Given the description of an element on the screen output the (x, y) to click on. 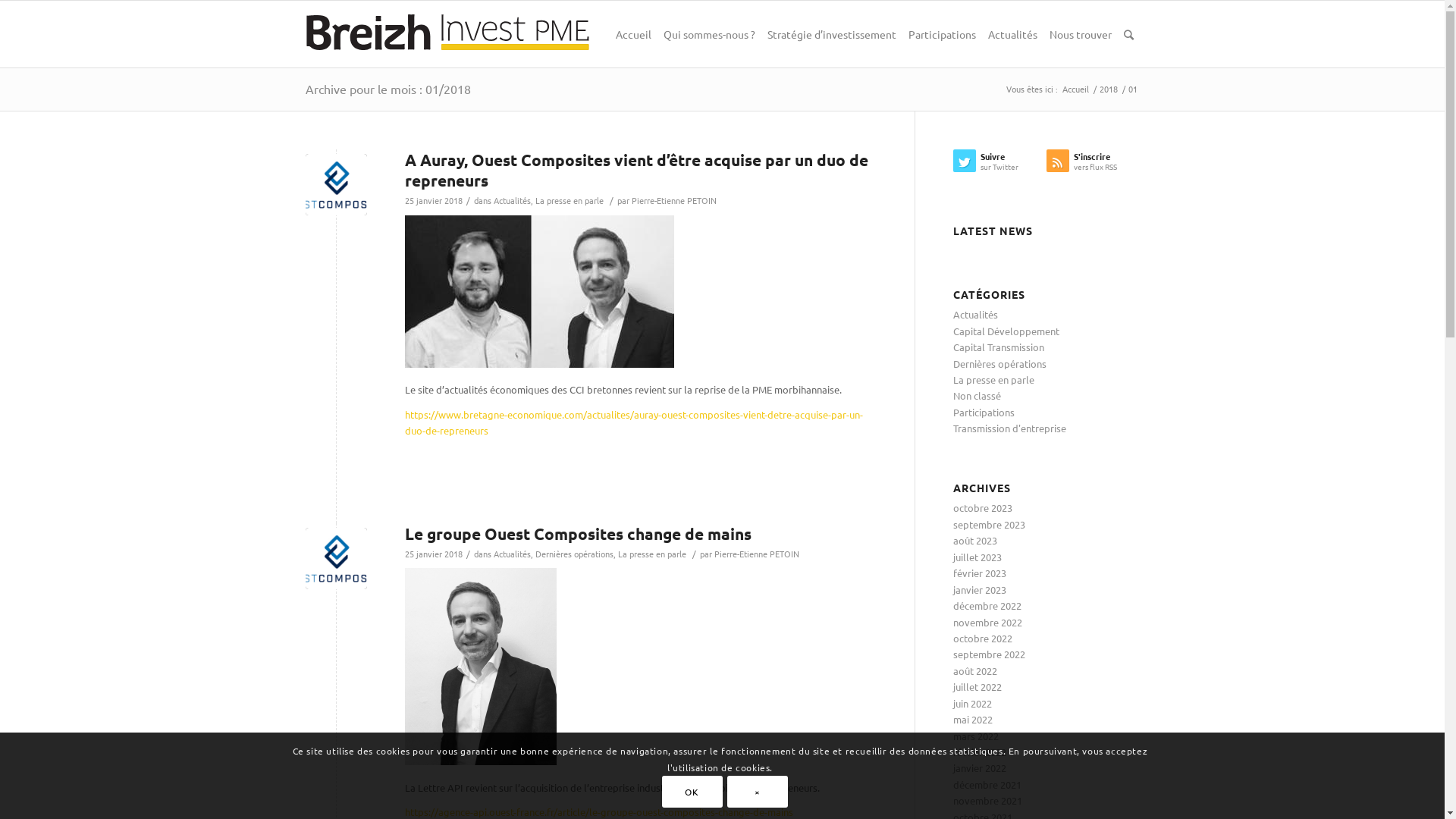
septembre 2022 Element type: text (988, 653)
Nous trouver Element type: text (1080, 33)
Suivre
sur Twitter Element type: text (998, 164)
Transmission d'entreprise Element type: text (1008, 427)
Capital Transmission Element type: text (997, 346)
Pierre-Etienne PETOIN Element type: text (756, 553)
janvier 2023 Element type: text (978, 589)
La presse en parle Element type: text (569, 200)
La presse en parle Element type: text (992, 379)
juillet 2022 Element type: text (976, 686)
octobre 2022 Element type: text (981, 637)
2018 Element type: text (1107, 88)
octobre 2023 Element type: text (981, 507)
juillet 2023 Element type: text (976, 556)
Accueil Element type: text (633, 33)
Le groupe Ouest Composites change de mains Element type: text (577, 533)
Qui sommes-nous ? Element type: text (708, 33)
novembre 2021 Element type: text (986, 799)
Participations Element type: text (982, 411)
Participations Element type: text (942, 33)
mai 2022 Element type: text (971, 718)
OK Element type: text (691, 791)
La presse en parle Element type: text (651, 553)
juin 2022 Element type: text (971, 702)
S'inscrire
vers flux RSS Element type: text (1092, 164)
mars 2022 Element type: text (974, 735)
Pierre-Etienne PETOIN Element type: text (672, 200)
Le groupe Ouest Composites change de mains Element type: hover (335, 558)
septembre 2023 Element type: text (988, 523)
novembre 2022 Element type: text (986, 621)
Accueil Element type: text (1075, 88)
janvier 2022 Element type: text (978, 767)
